Given the description of an element on the screen output the (x, y) to click on. 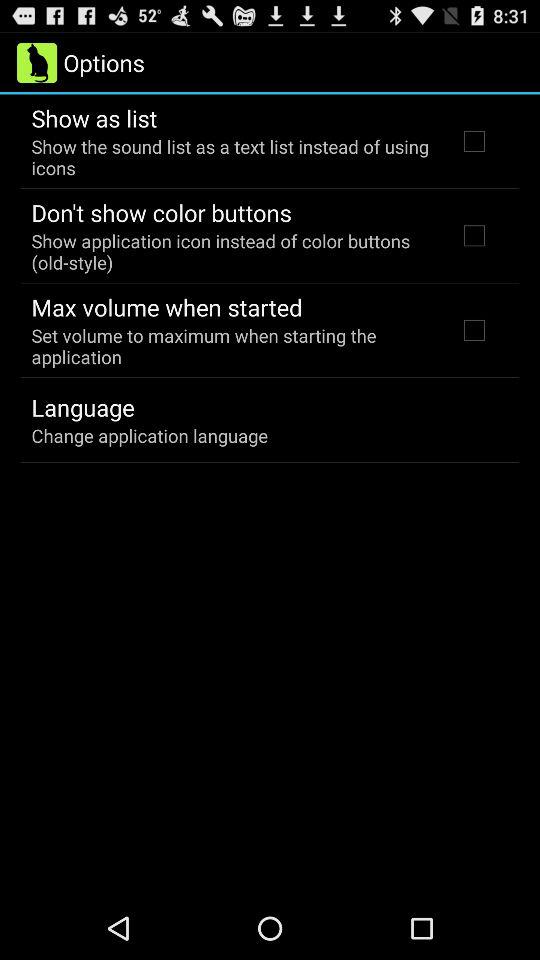
click icon below the show the sound (161, 212)
